Given the description of an element on the screen output the (x, y) to click on. 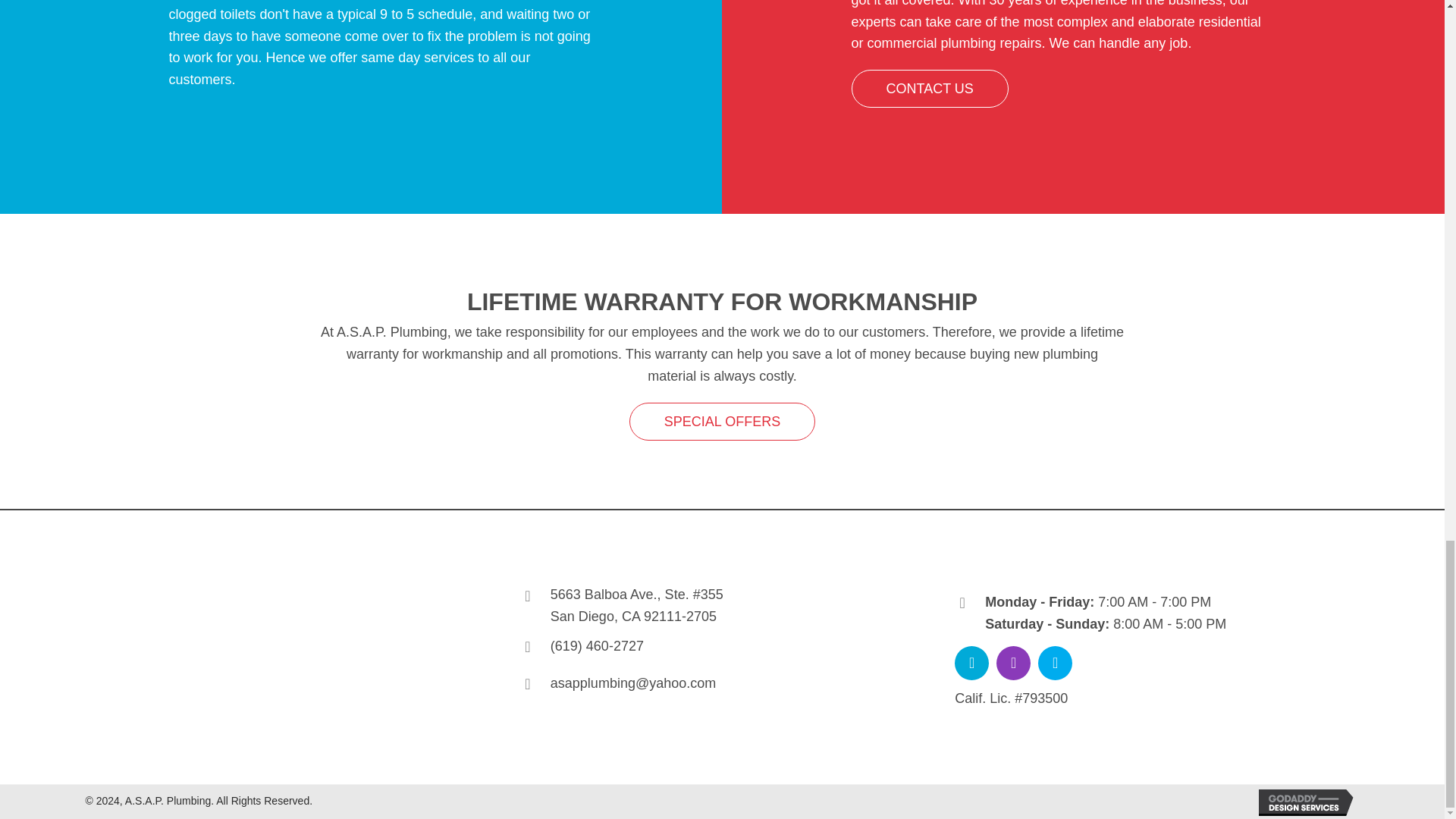
Instagram (1012, 663)
SPECIAL OFFERS (721, 421)
CONTACT US (928, 88)
Facebook (971, 663)
Twitter (1054, 663)
